Given the description of an element on the screen output the (x, y) to click on. 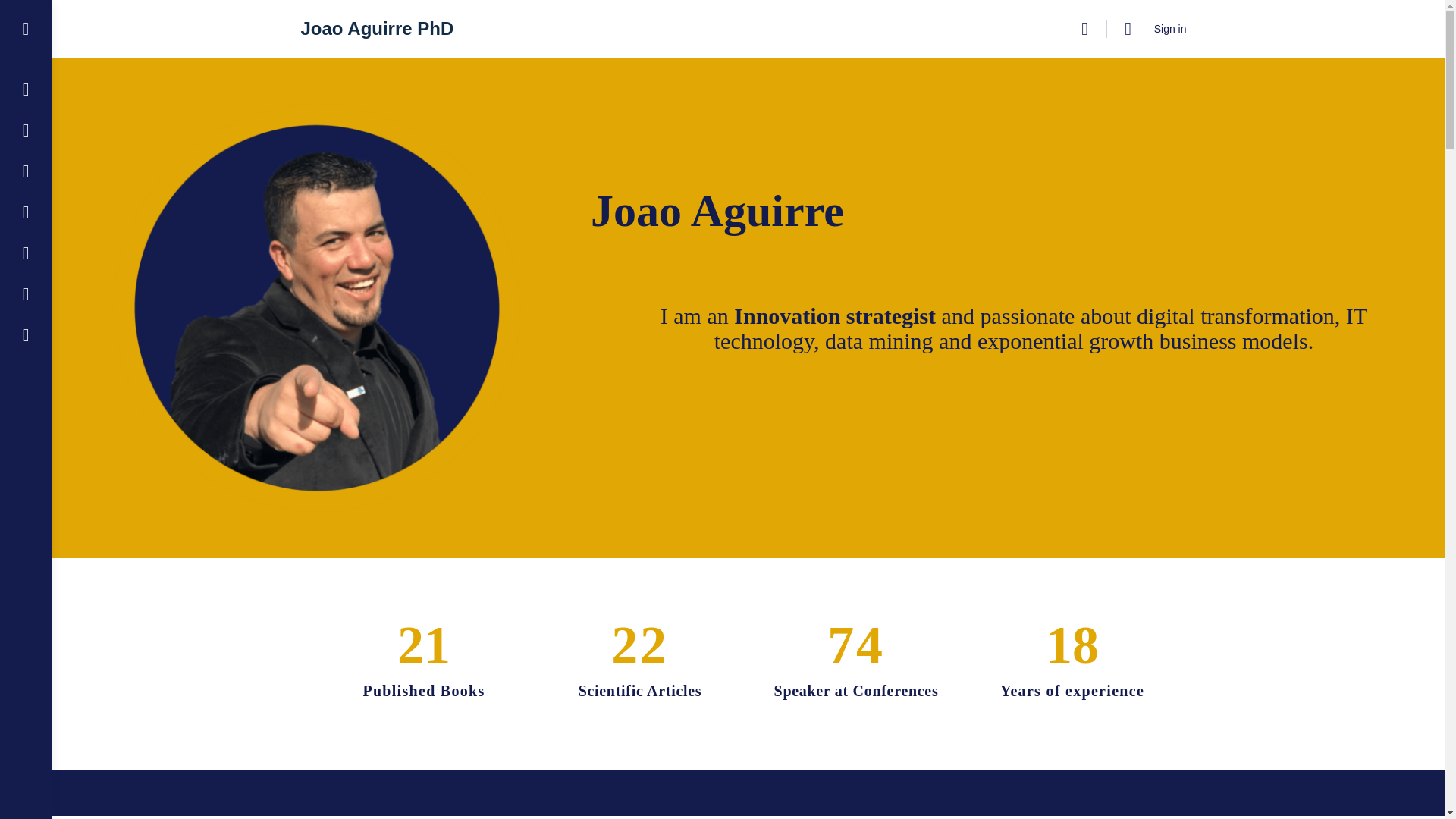
Sign in (1169, 28)
Joao Aguirre PhD (375, 28)
Page 1 (1013, 327)
